Given the description of an element on the screen output the (x, y) to click on. 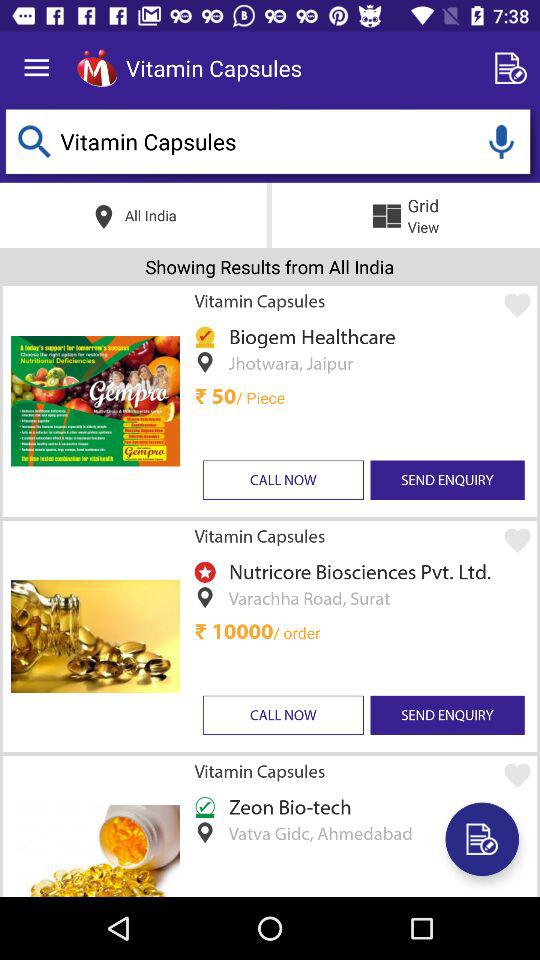
jump until biogem healthcare (308, 336)
